Given the description of an element on the screen output the (x, y) to click on. 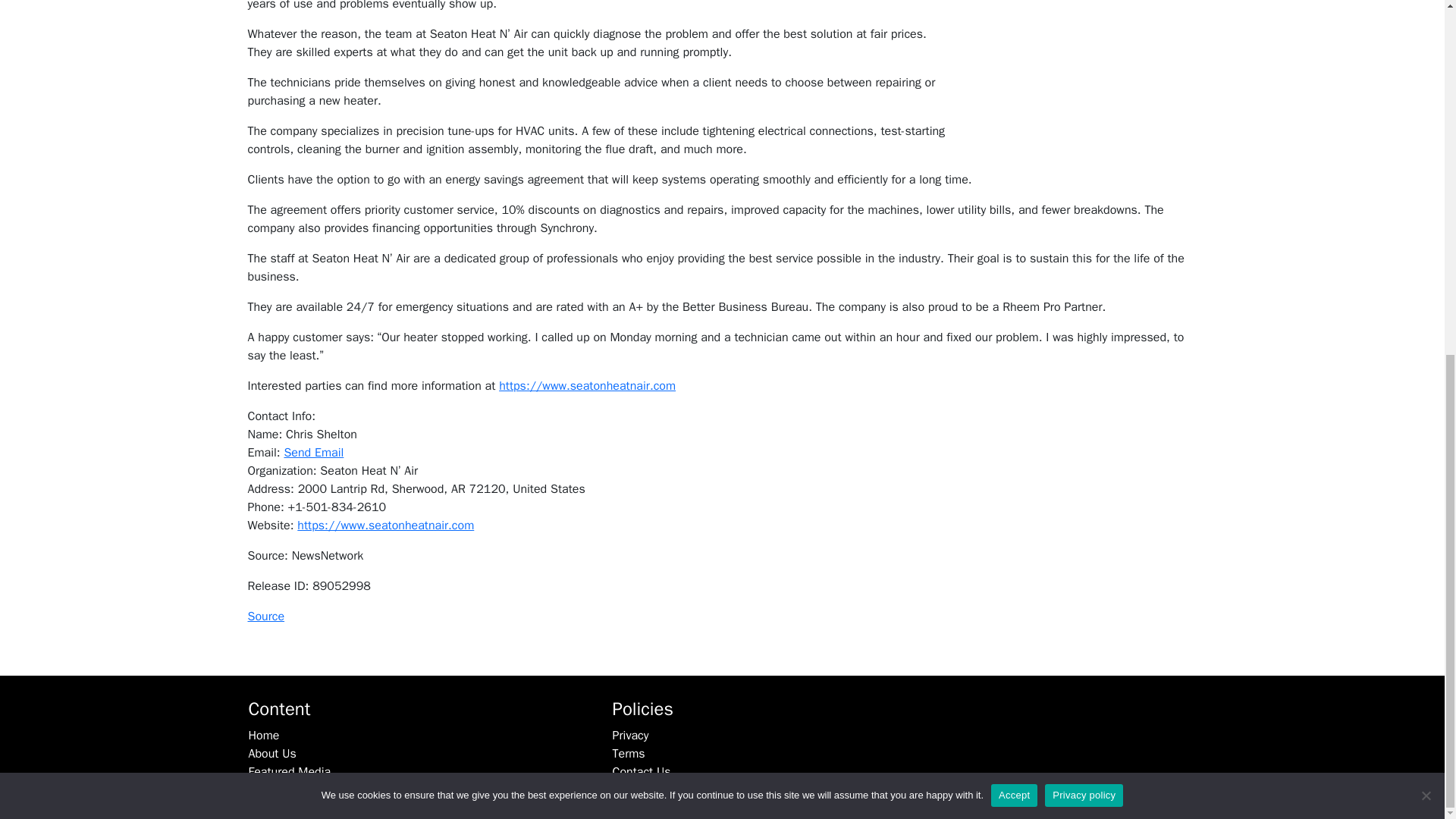
Contact Us (641, 771)
Source (265, 616)
Terms (628, 753)
Privacy (630, 735)
Featured Media (289, 771)
News Media (281, 789)
No (1425, 174)
Send Email (313, 452)
Privacy policy (1083, 173)
Home (263, 735)
About Us (272, 753)
Accept (1013, 173)
